Given the description of an element on the screen output the (x, y) to click on. 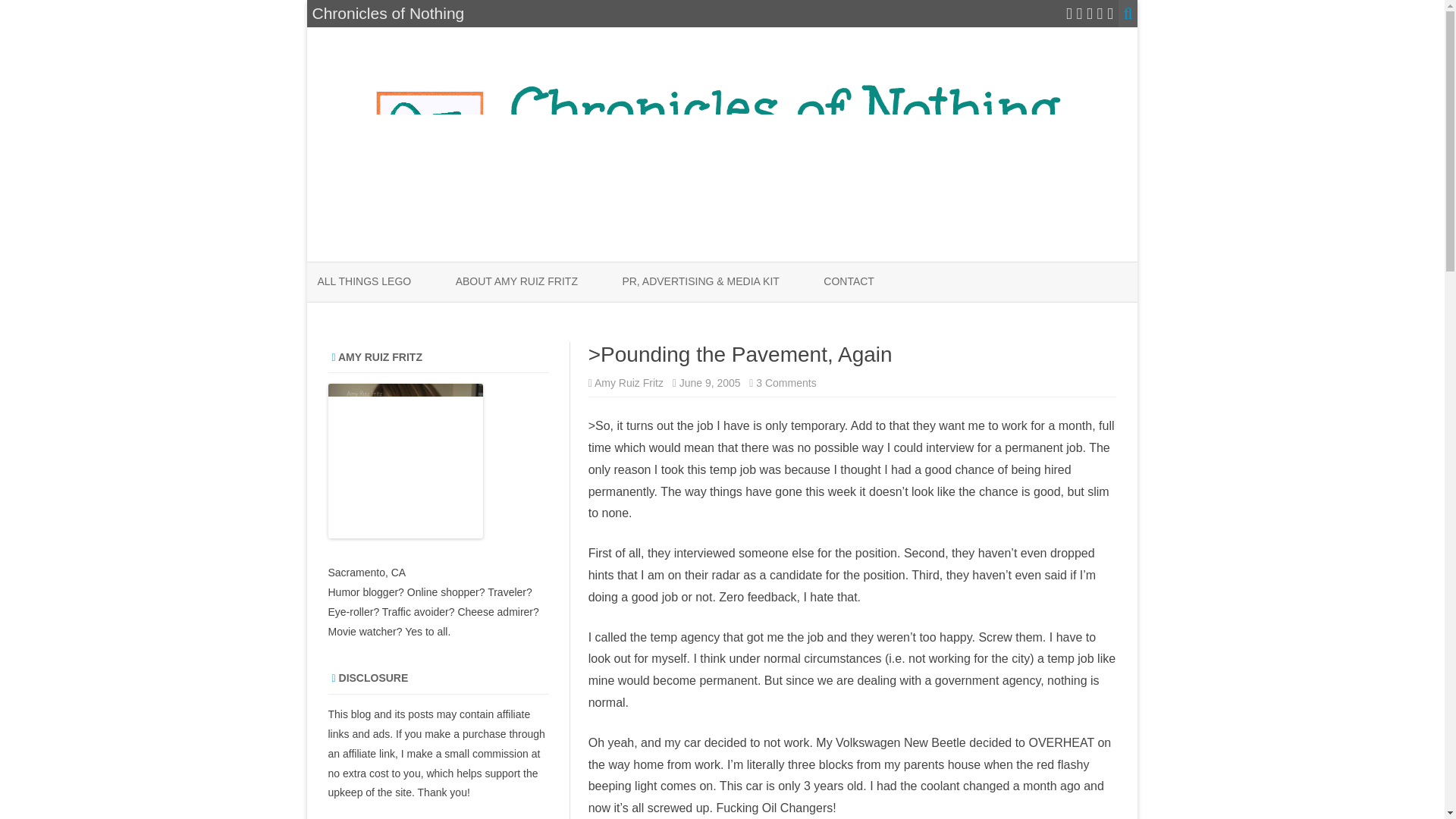
ALL THINGS LEGO (363, 282)
ABOUT AMY RUIZ FRITZ (516, 282)
Amy Ruiz Fritz (628, 382)
CONTACT (849, 282)
